Given the description of an element on the screen output the (x, y) to click on. 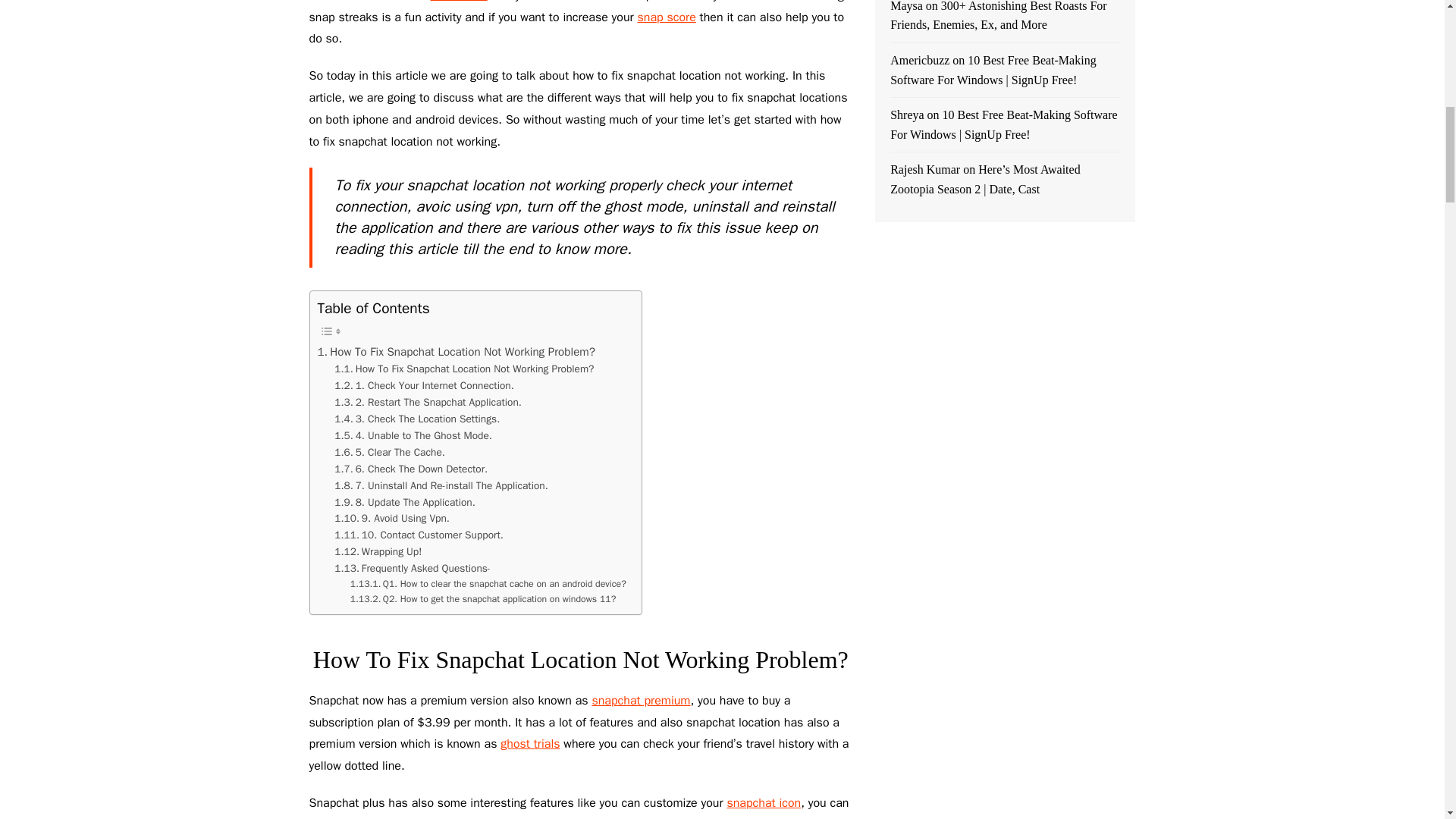
2. Restart The Snapchat Application. (427, 402)
5. Clear The Cache. (389, 452)
3. Check The Location Settings. (416, 419)
How To Fix Snapchat Location Not Working Problem? (455, 352)
How To Fix Snapchat Location Not Working Problem? (464, 369)
6. Check The Down Detector. (410, 469)
Wrapping Up! (378, 551)
9. Avoid Using Vpn. (391, 518)
7. Uninstall And Re-install The Application. (441, 485)
8. Update The Application. (404, 502)
